Given the description of an element on the screen output the (x, y) to click on. 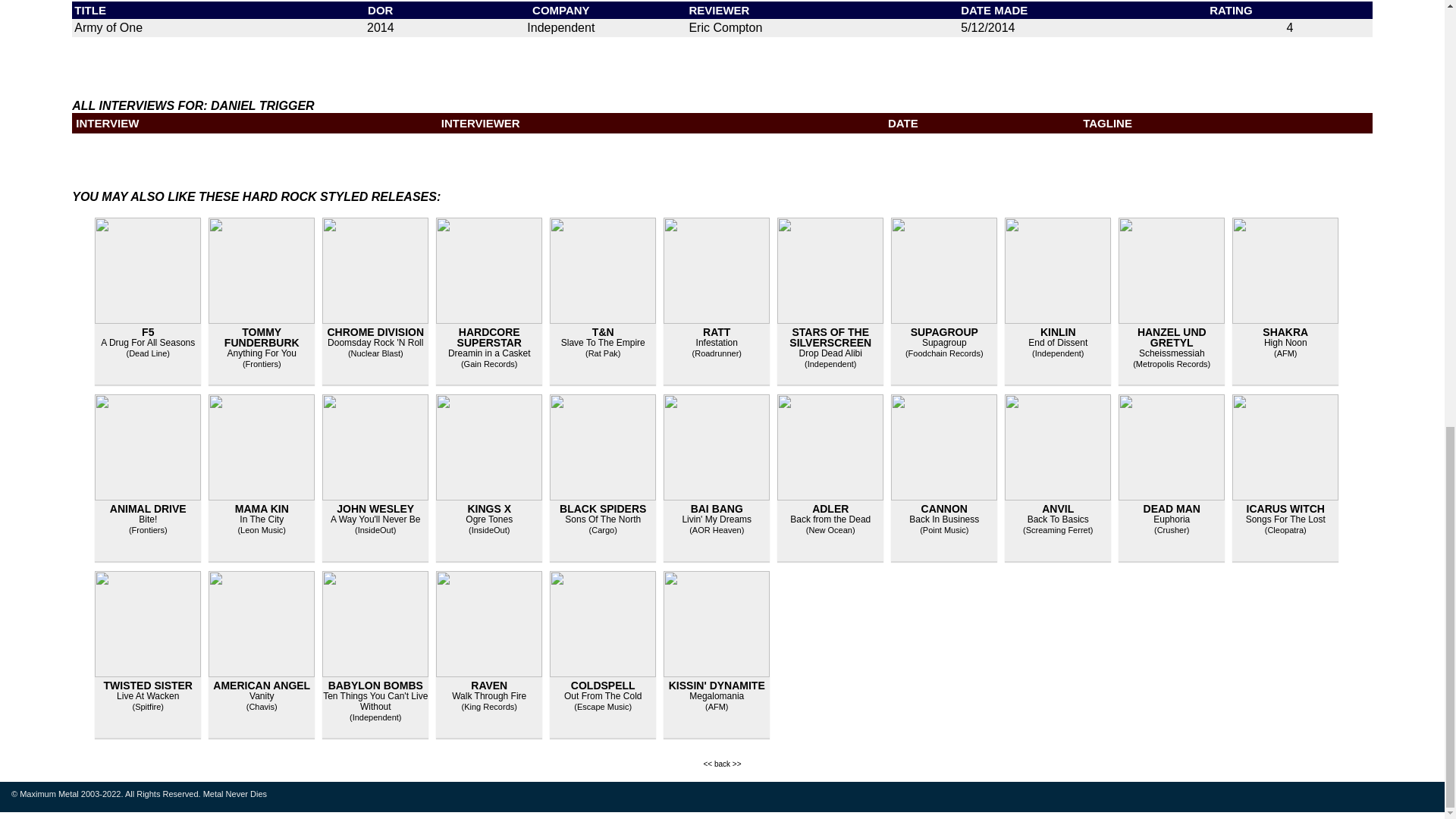
Drop Dead Alibi (830, 353)
Infestation (716, 342)
Anything For You (262, 353)
STARS OF THE SILVERSCREEN (829, 336)
Doomsday Rock 'N Roll (375, 342)
Army of One (108, 27)
HARDCORE SUPERSTAR (489, 336)
RATT (716, 331)
Supagroup (943, 342)
F5 (147, 331)
